Given the description of an element on the screen output the (x, y) to click on. 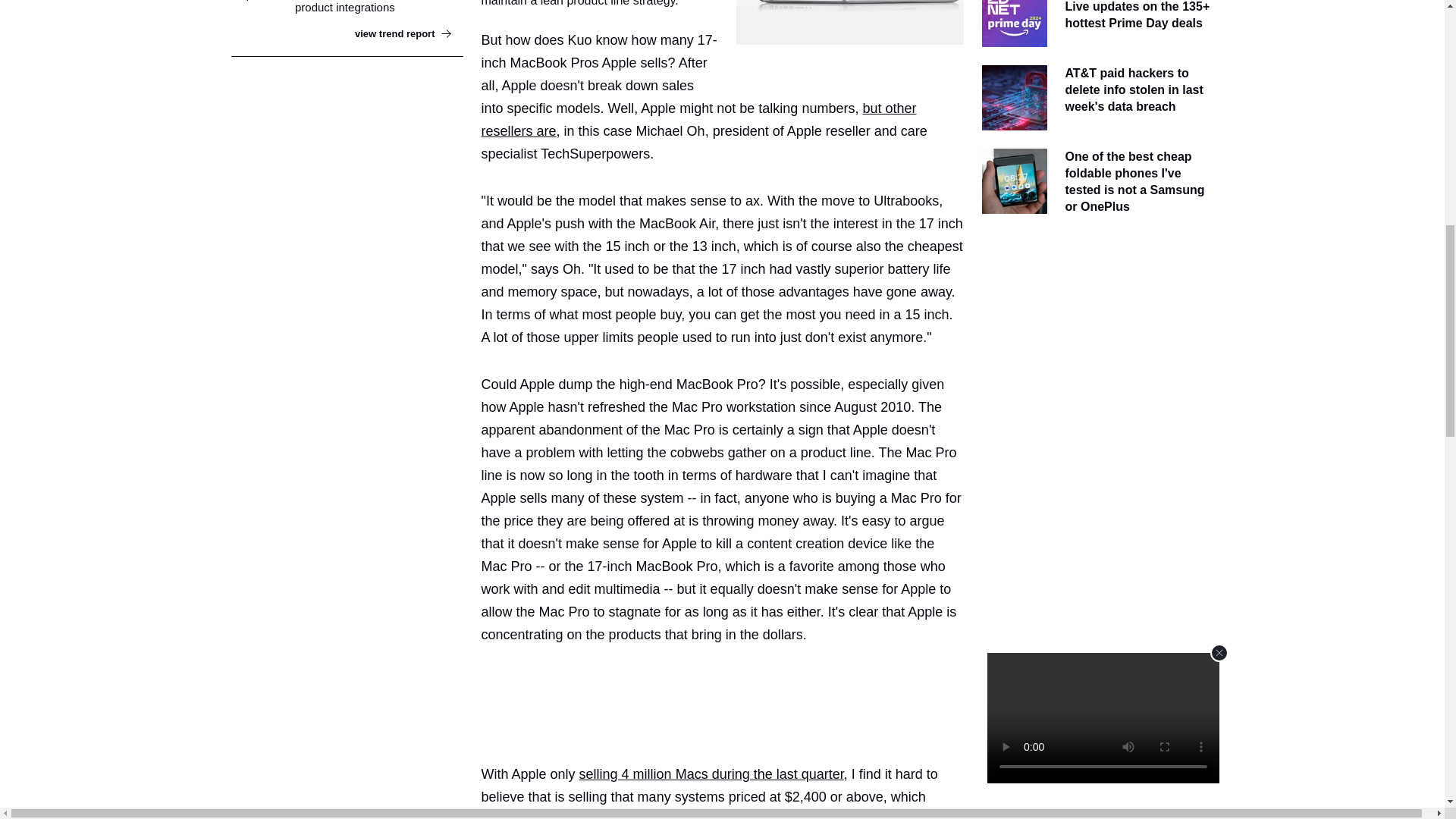
3rd party ad content (727, 704)
3rd party ad content (1097, 339)
